Given the description of an element on the screen output the (x, y) to click on. 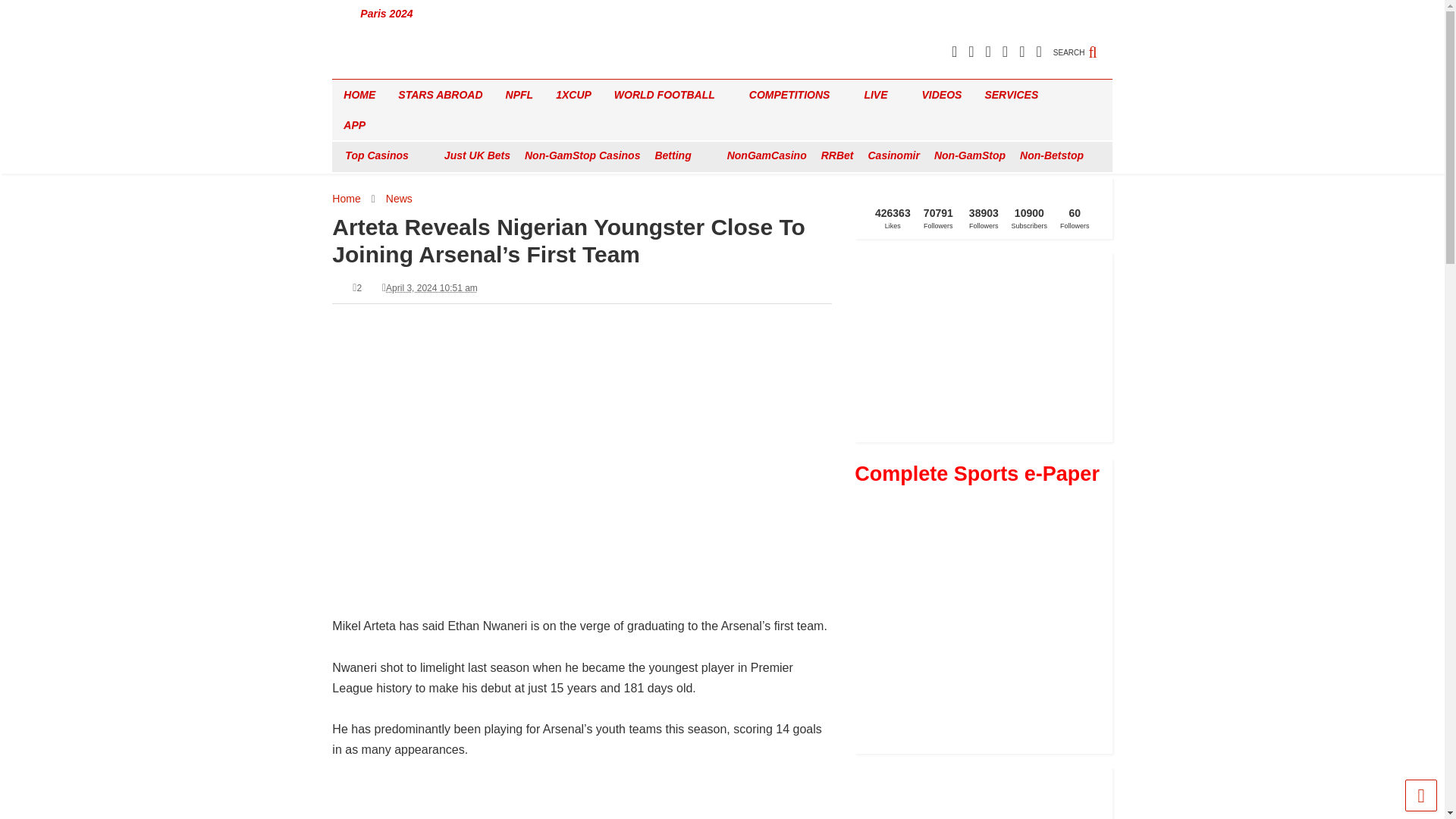
STARS ABROAD (440, 94)
VIDEOS (942, 94)
Complete Sports (383, 66)
pinterest (988, 51)
instagram (1022, 51)
HOME (359, 94)
NPFL (519, 94)
LIVE (880, 94)
linkedin (1005, 51)
twitter (971, 51)
Paris 2024 (386, 13)
SERVICES (1016, 94)
facebook (1038, 51)
SEARCH (1082, 44)
April 3, 2024 10:58 am (431, 287)
